Given the description of an element on the screen output the (x, y) to click on. 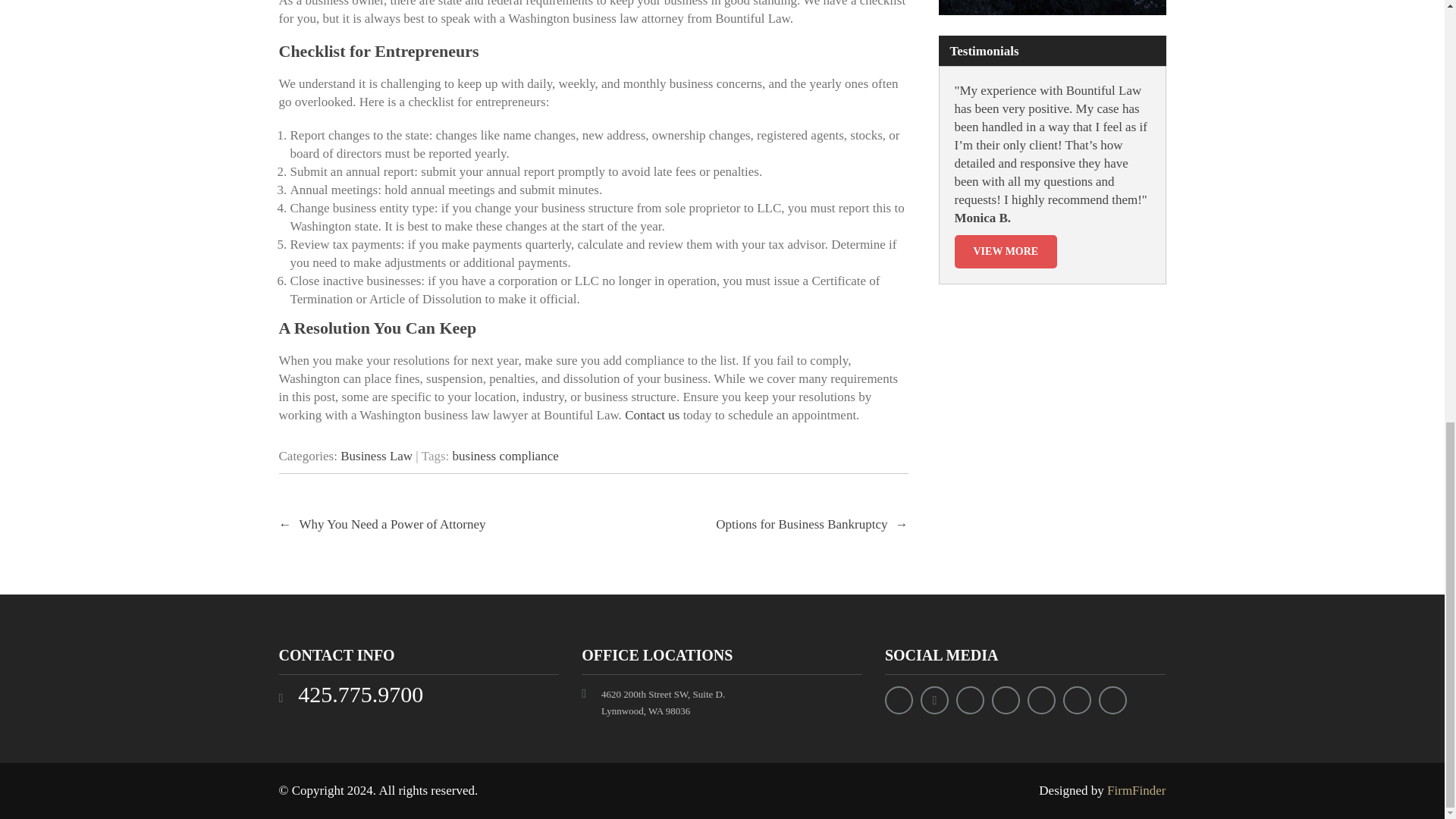
Business Law (376, 455)
Icon Name (1005, 700)
Icon Name (898, 700)
linkedin (934, 700)
Contact us (651, 414)
business compliance (505, 455)
Icon Name (1076, 700)
View all posts in Business Law (376, 455)
Icon Name (1112, 700)
Icon Name (1041, 700)
Icon Name (970, 700)
